Given the description of an element on the screen output the (x, y) to click on. 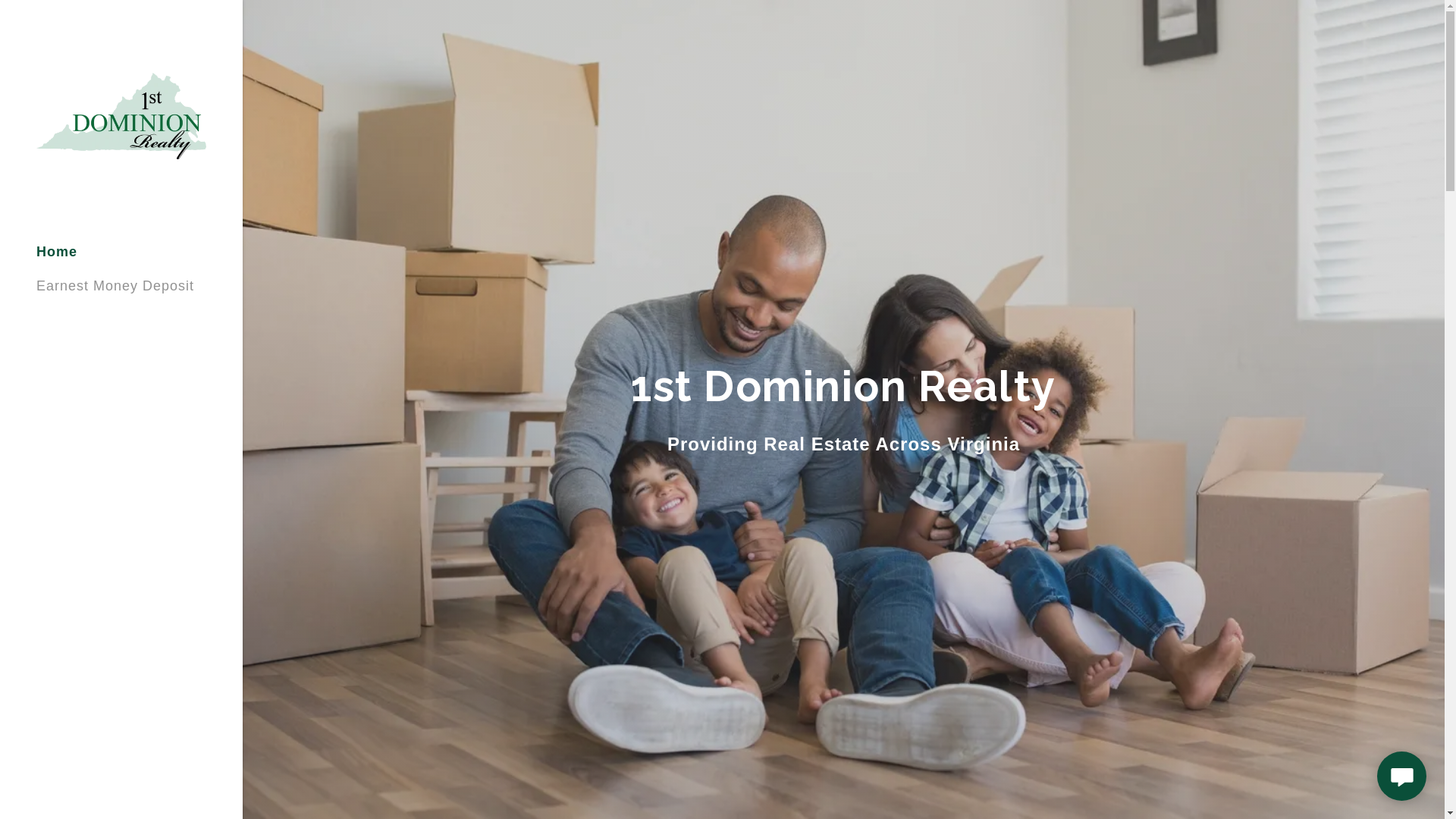
1st Dominion Realty Element type: hover (121, 114)
Earnest Money Deposit Element type: text (115, 285)
Home Element type: text (56, 251)
